Given the description of an element on the screen output the (x, y) to click on. 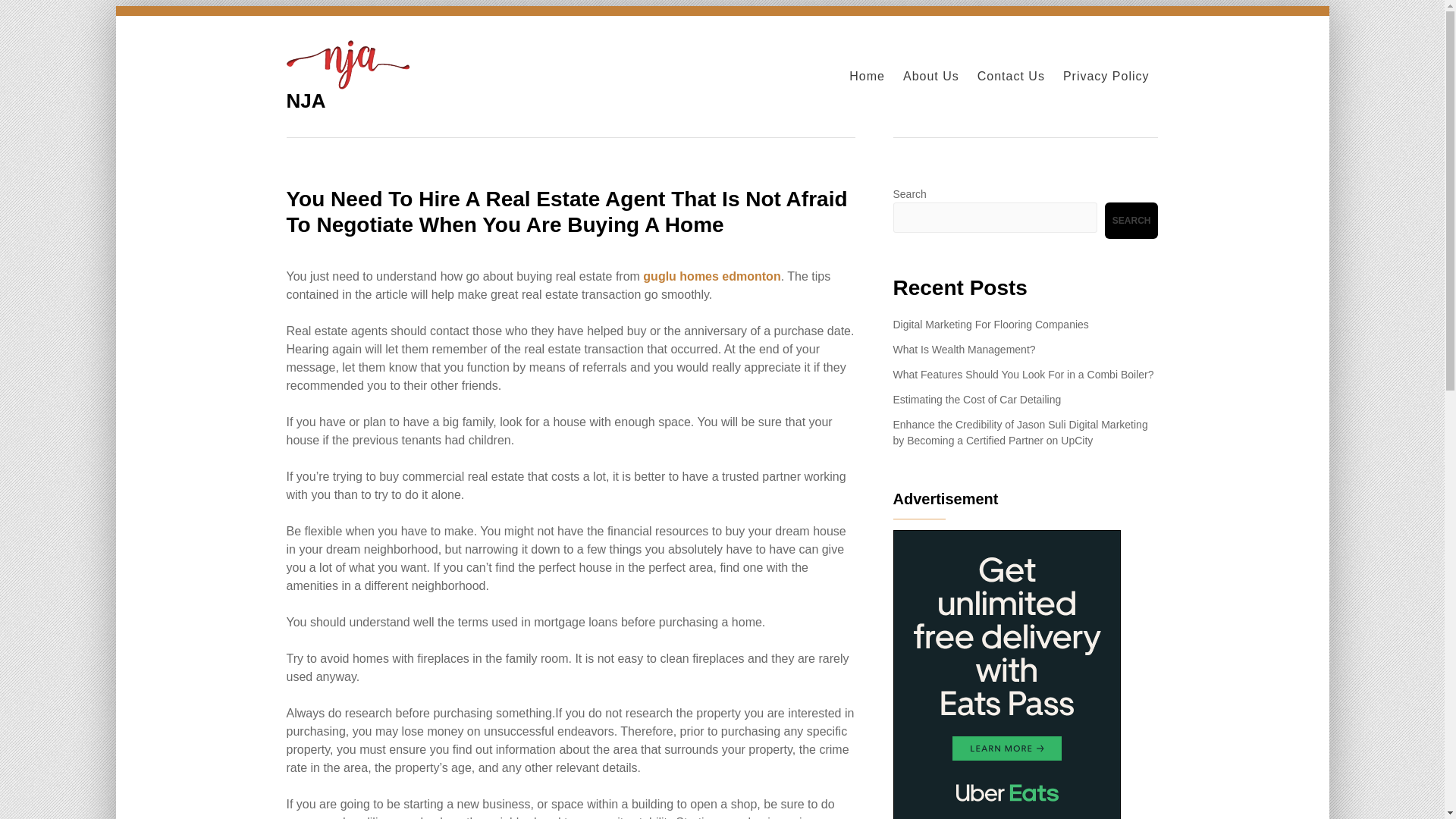
Privacy Policy (1106, 76)
What Is Wealth Management? (964, 349)
SEARCH (1131, 220)
What Features Should You Look For in a Combi Boiler? (1023, 374)
Home (866, 76)
About Us (930, 76)
guglu homes edmonton (711, 276)
NJA (306, 100)
Digital Marketing For Flooring Companies (991, 324)
Contact Us (1010, 76)
Estimating the Cost of Car Detailing (977, 399)
